Given the description of an element on the screen output the (x, y) to click on. 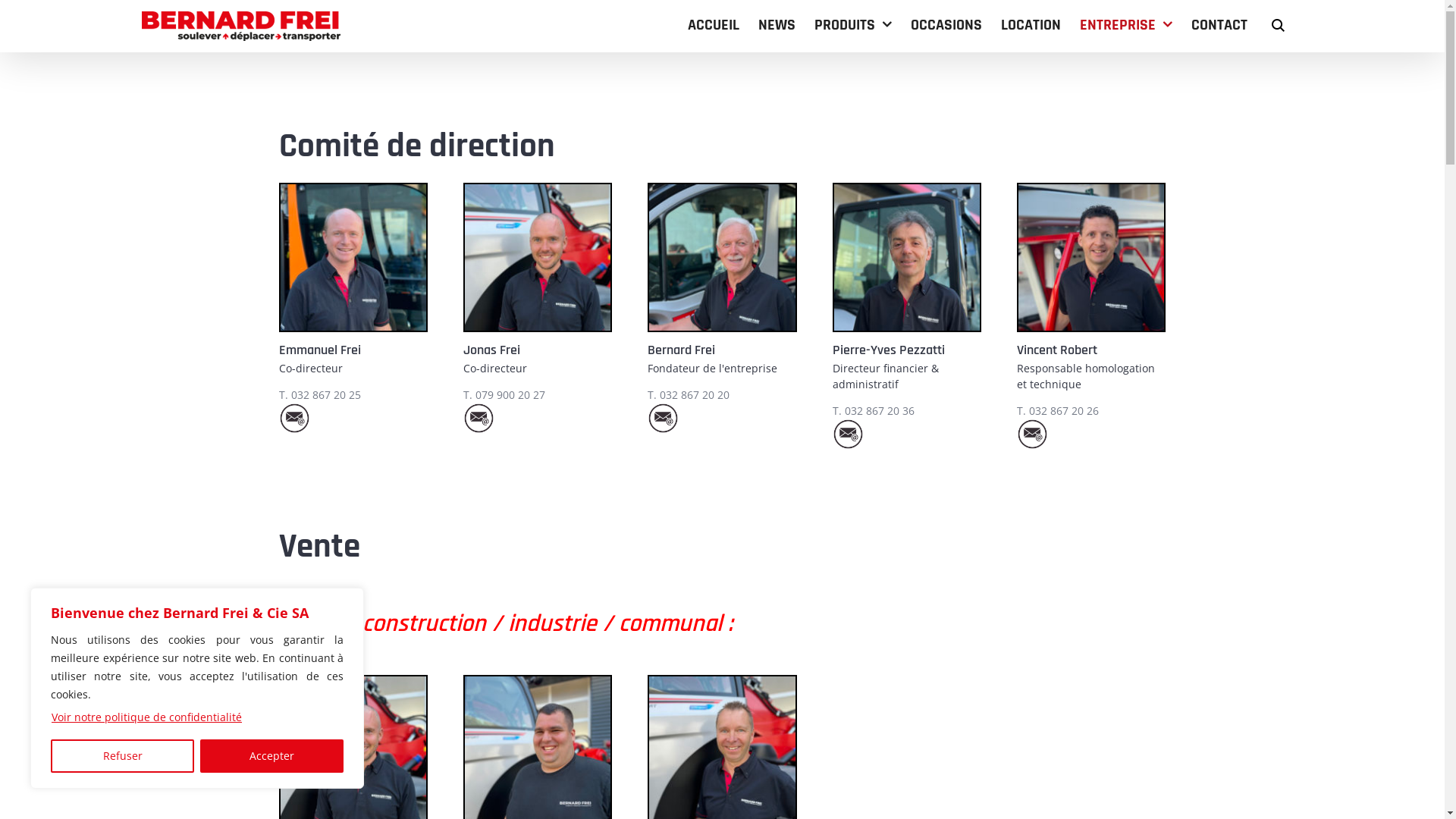
ACCUEIL Element type: text (713, 24)
LOCATION Element type: text (1030, 24)
CONTACT Element type: text (1219, 24)
NEWS Element type: text (776, 24)
OCCASIONS Element type: text (946, 24)
ENTREPRISE Element type: text (1125, 24)
PRODUITS Element type: text (852, 24)
